Given the description of an element on the screen output the (x, y) to click on. 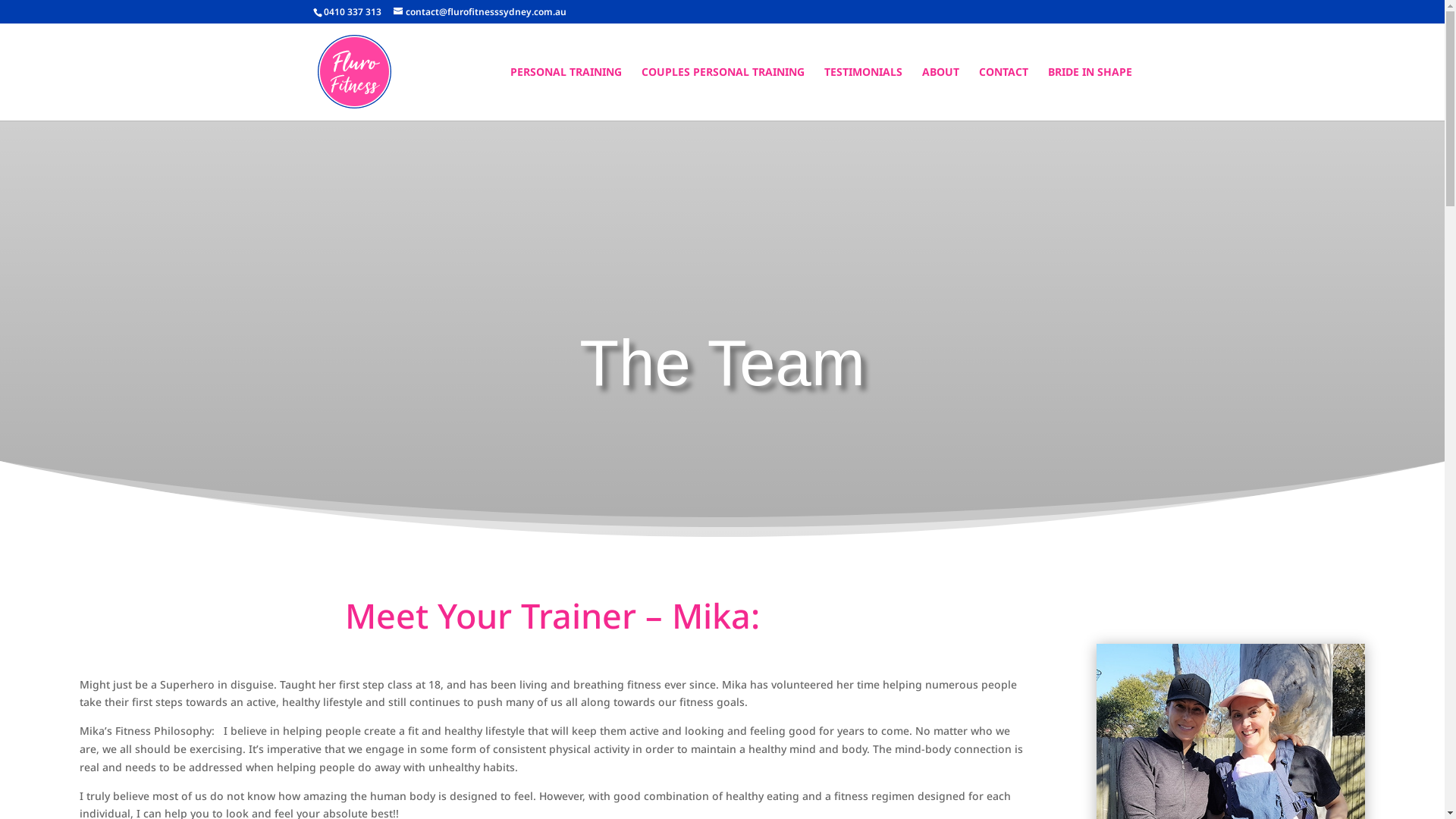
ABOUT Element type: text (940, 93)
TESTIMONIALS Element type: text (862, 93)
contact@flurofitnesssydney.com.au Element type: text (478, 11)
PERSONAL TRAINING Element type: text (565, 93)
COUPLES PERSONAL TRAINING Element type: text (722, 93)
CONTACT Element type: text (1002, 93)
BRIDE IN SHAPE Element type: text (1090, 93)
